Given the description of an element on the screen output the (x, y) to click on. 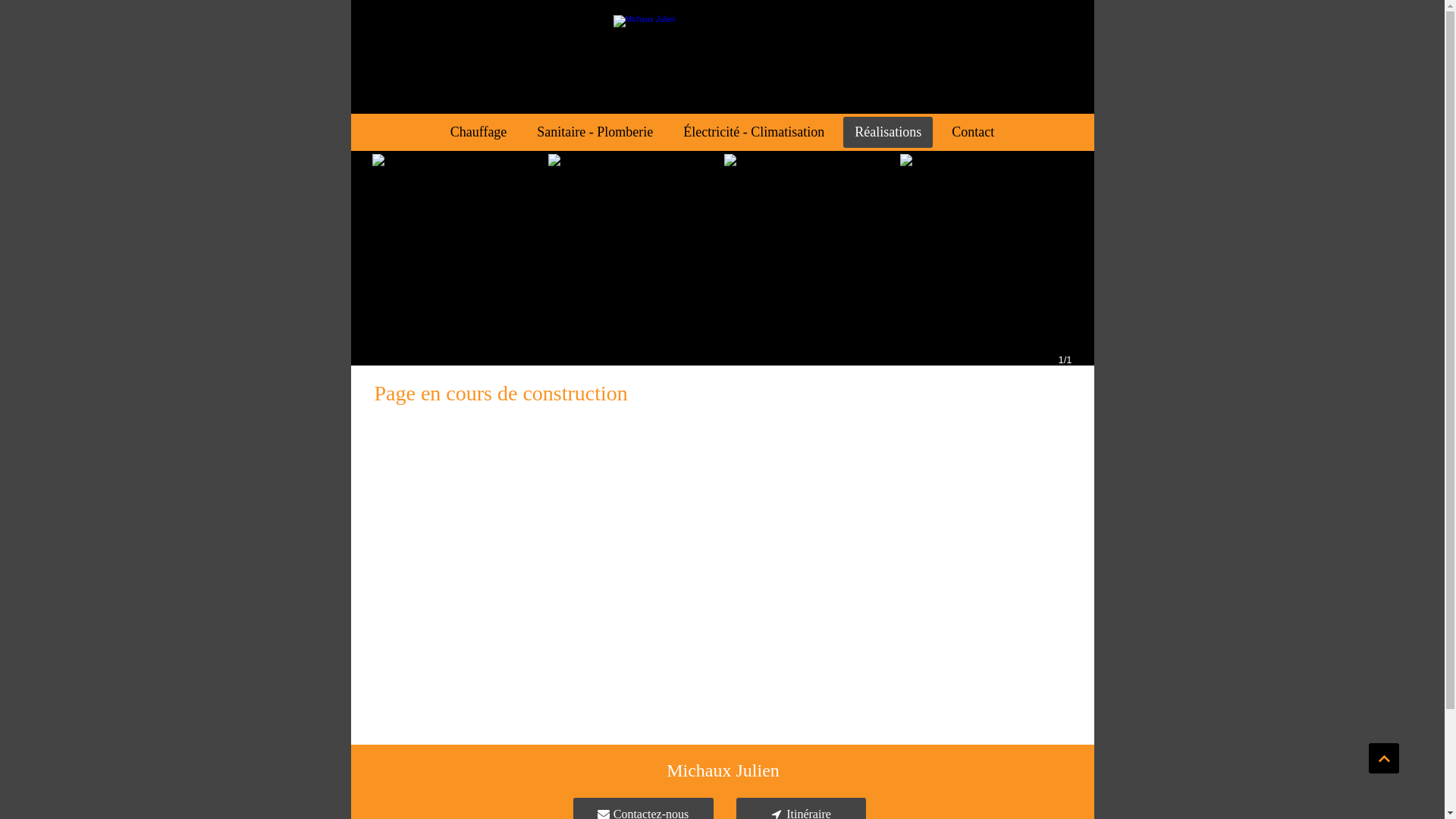
Sanitaire - Plomberie Element type: text (594, 131)
Chauffage Element type: text (478, 131)
Contact Element type: text (972, 131)
